Given the description of an element on the screen output the (x, y) to click on. 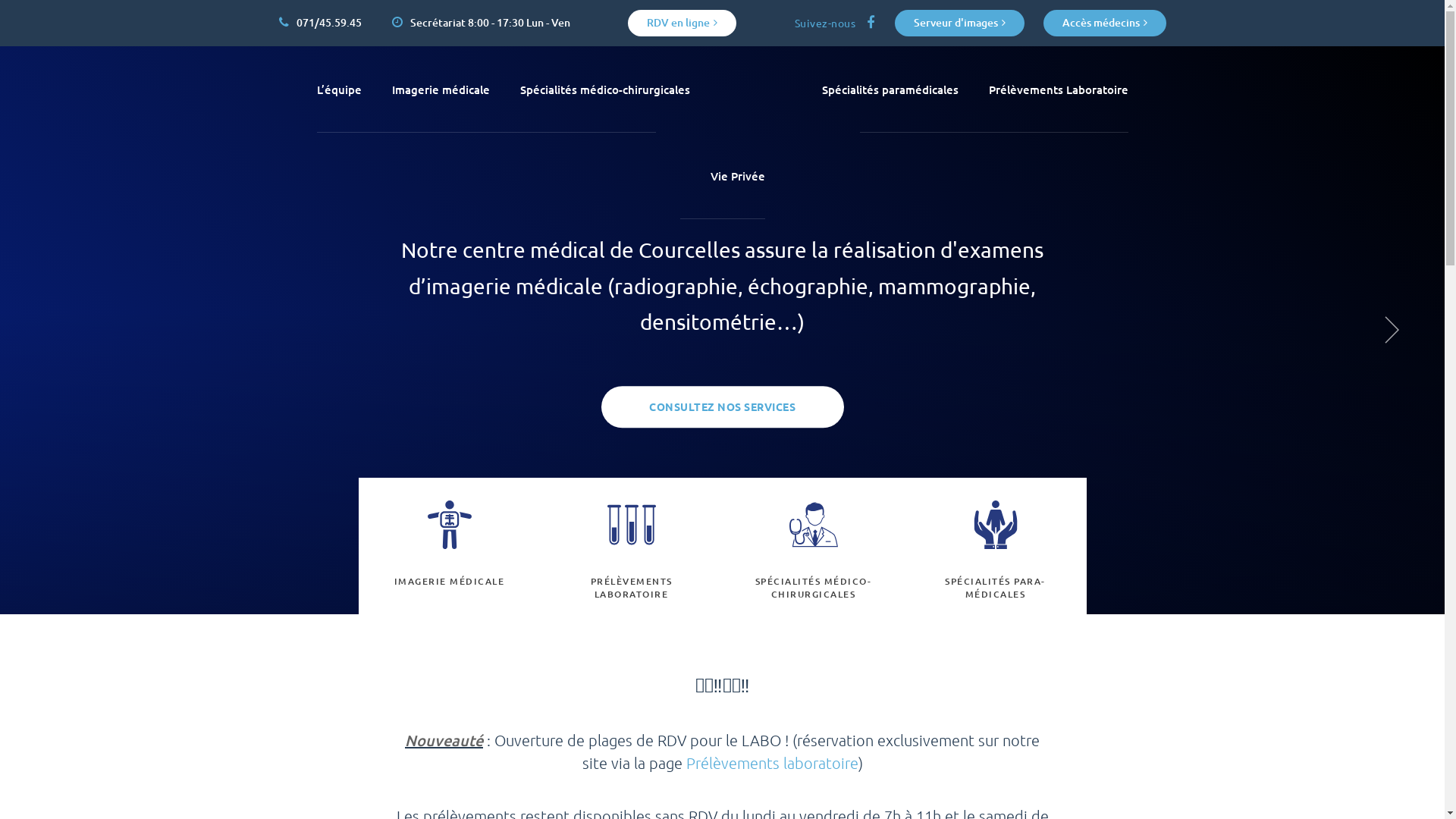
Aller au contenu principal Element type: text (68, 45)
071/45.59.45 Element type: text (320, 23)
RDV en ligne Element type: text (681, 22)
Suivez-nous Element type: text (834, 22)
CONSULTEZ NOS SERVICES Element type: text (721, 406)
Serveur d'images Element type: text (959, 22)
